Given the description of an element on the screen output the (x, y) to click on. 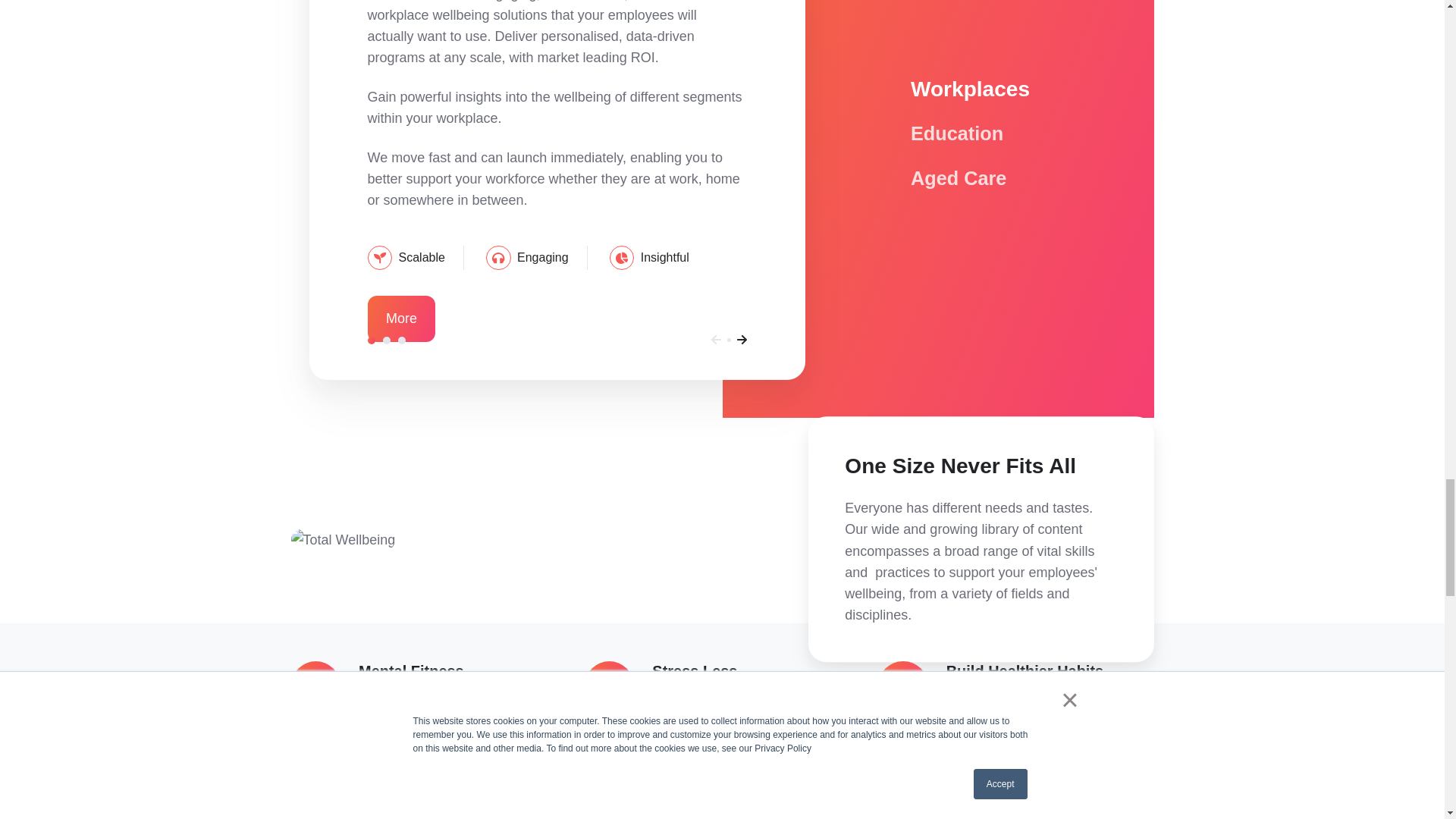
Education (386, 339)
Aged Care (401, 339)
Education (962, 135)
Workplaces (970, 89)
More (400, 318)
Aged Care (963, 180)
Workplaces (370, 339)
